Given the description of an element on the screen output the (x, y) to click on. 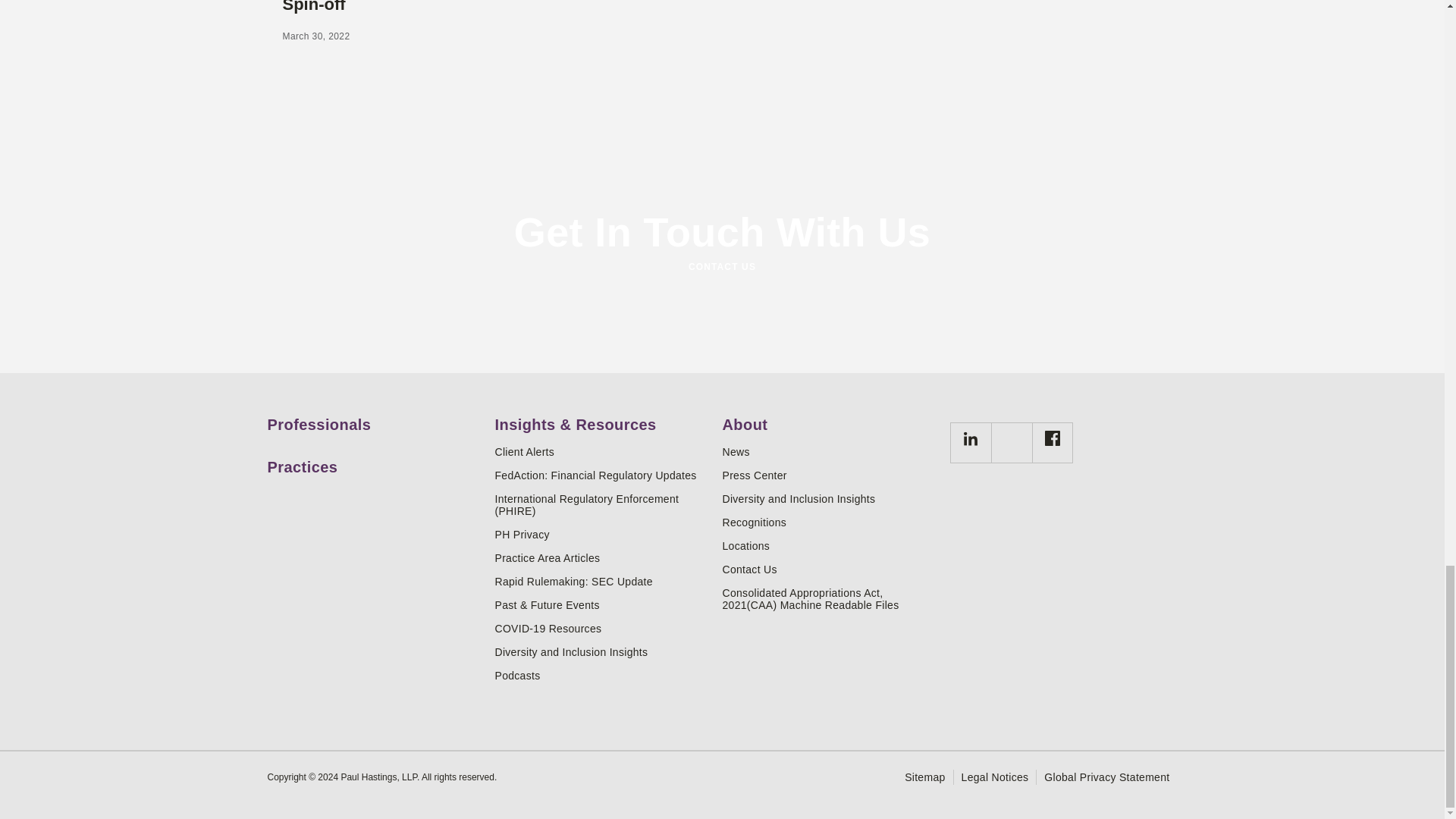
FedAction: Financial Regulatory Updates (602, 475)
PH Privacy (602, 534)
Practices (374, 460)
COVID-19 Resources (602, 628)
Client Alerts (602, 451)
CB6A0679-7CD4-47AB-9AF9-079521319001Created with sketchtool. (969, 438)
Diversity and Inclusion Insights (602, 652)
Practice Area Articles (602, 558)
BC42128A-F0DE-4FE2-9372-6CDE6D4F5957Created with sketchtool. (1052, 437)
